Given the description of an element on the screen output the (x, y) to click on. 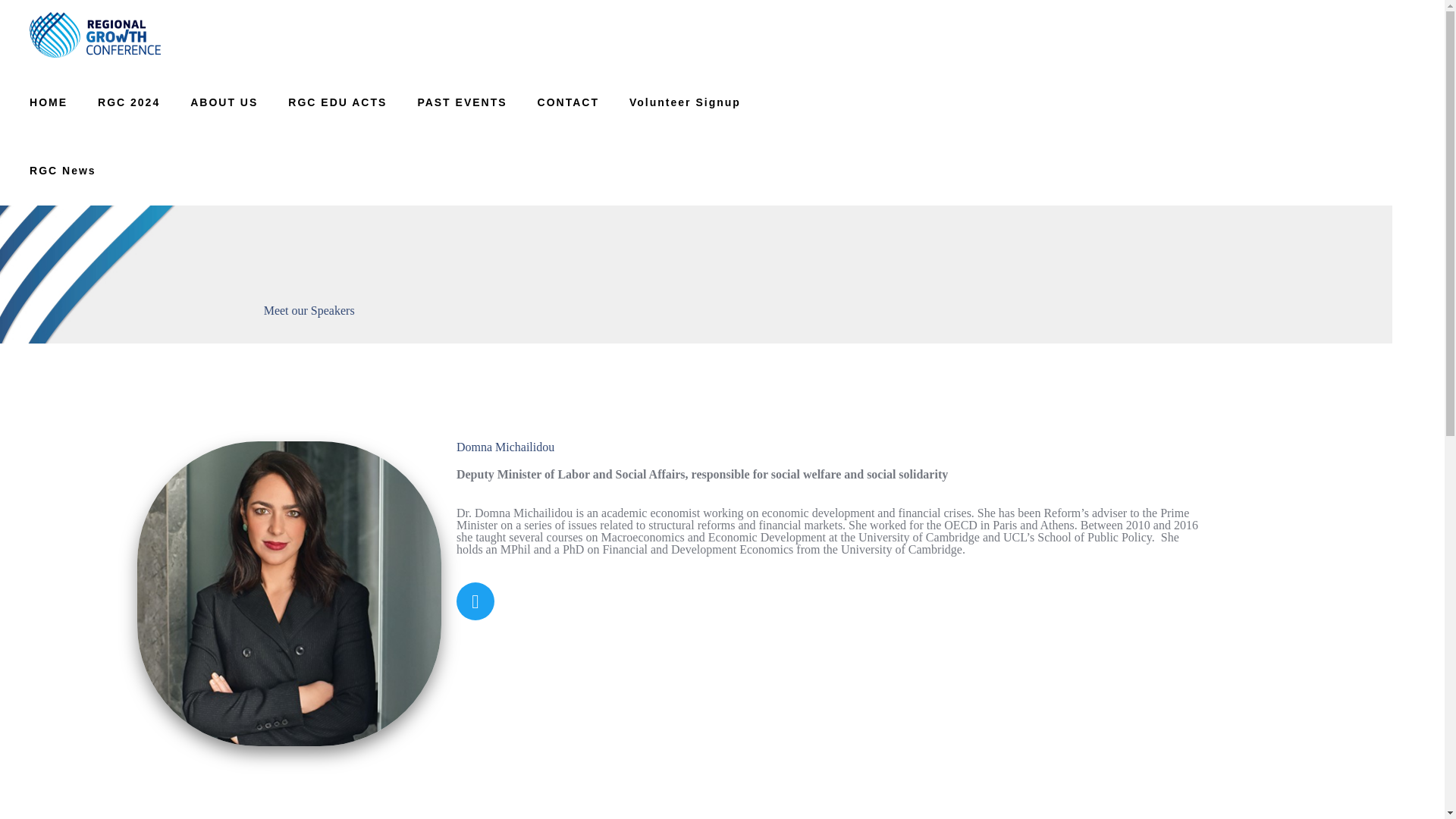
RGC 2024 (128, 101)
RGC EDU ACTS (337, 101)
RGC (94, 33)
PAST EVENTS (461, 101)
HOME (48, 101)
ABOUT US (223, 101)
